Given the description of an element on the screen output the (x, y) to click on. 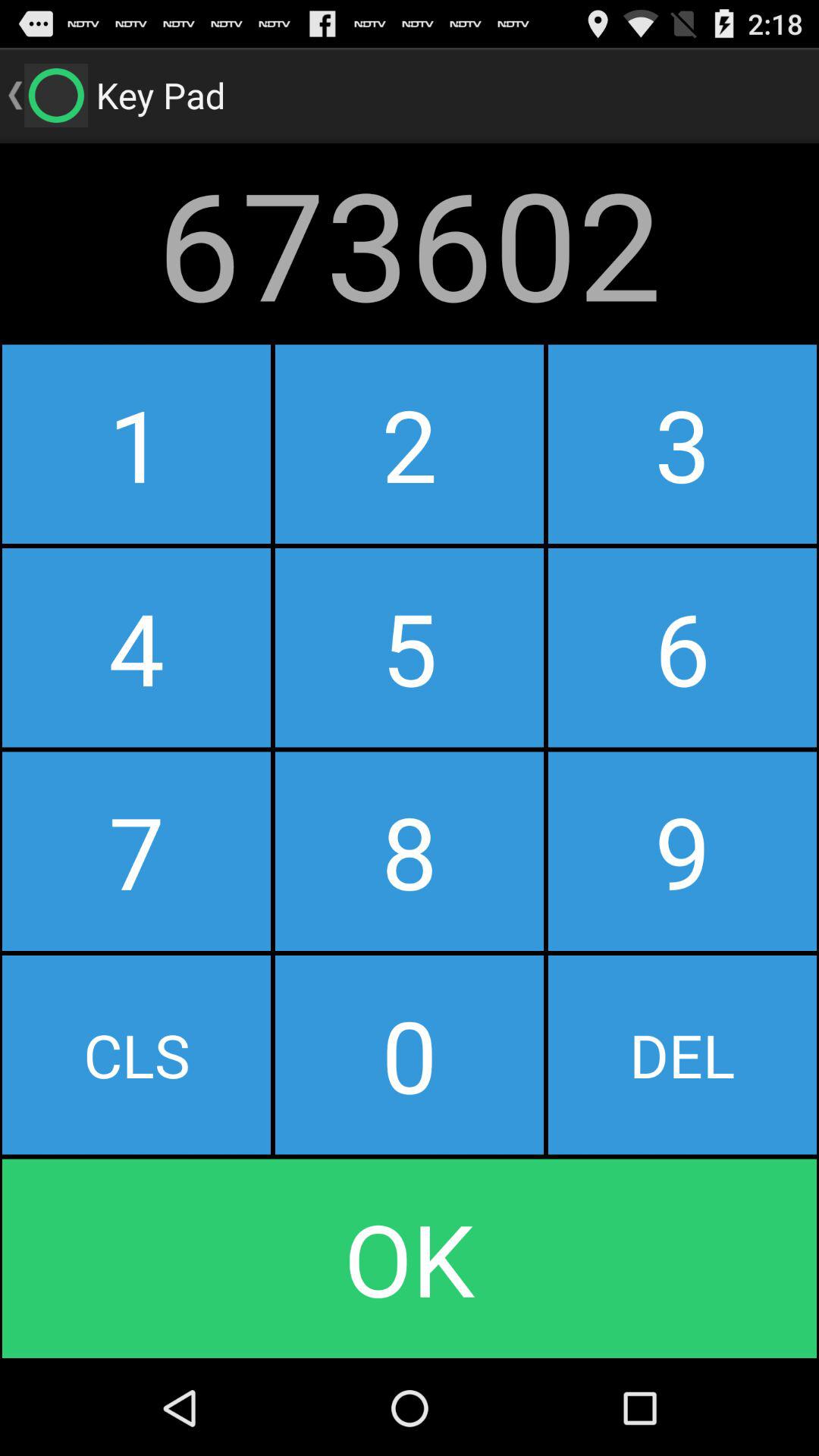
launch button next to the 2 icon (682, 647)
